Given the description of an element on the screen output the (x, y) to click on. 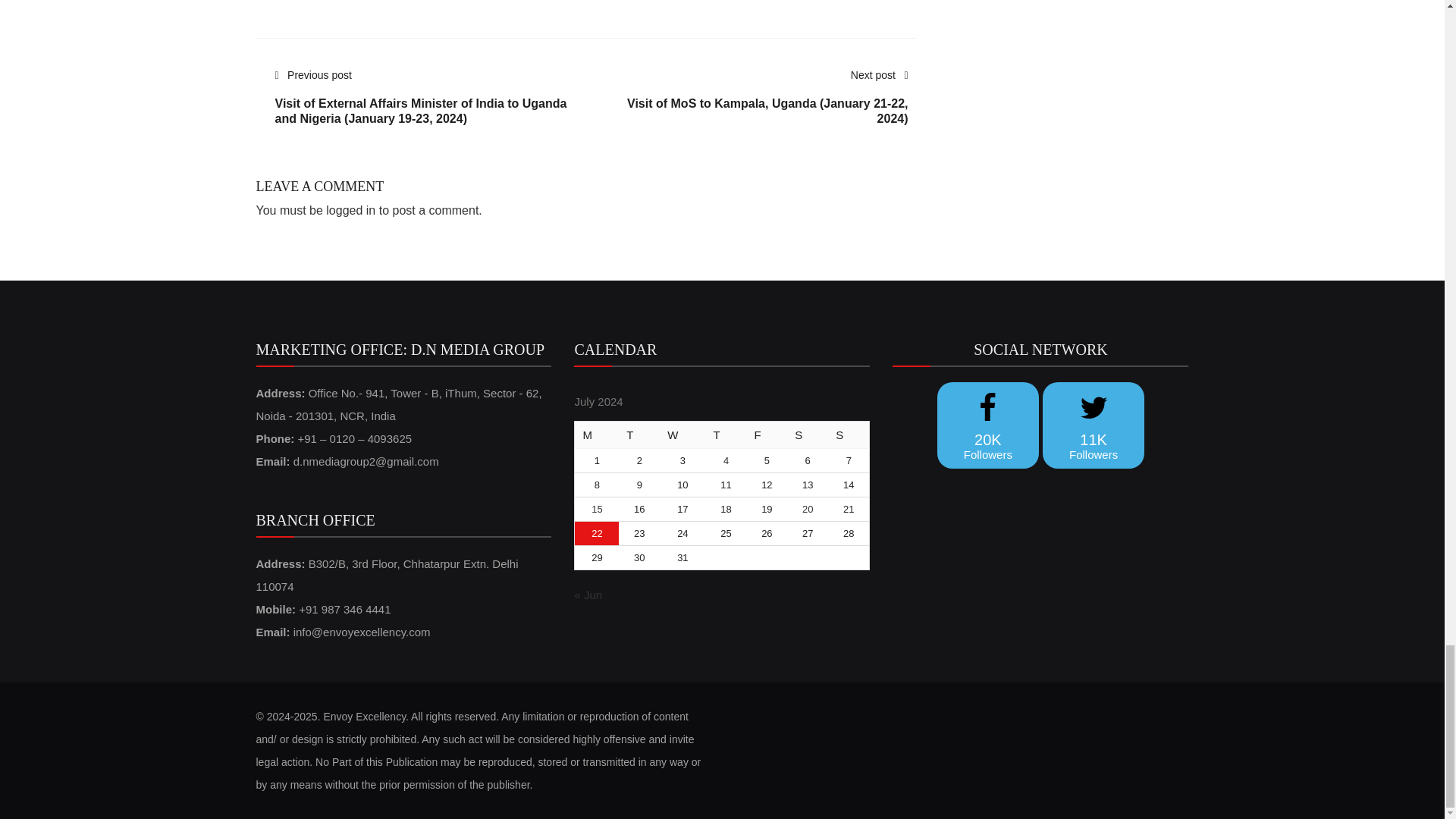
logged in (350, 210)
prev post (428, 105)
Tuesday (638, 434)
Monday (596, 434)
next post (753, 105)
Wednesday (681, 434)
Thursday (726, 434)
